Given the description of an element on the screen output the (x, y) to click on. 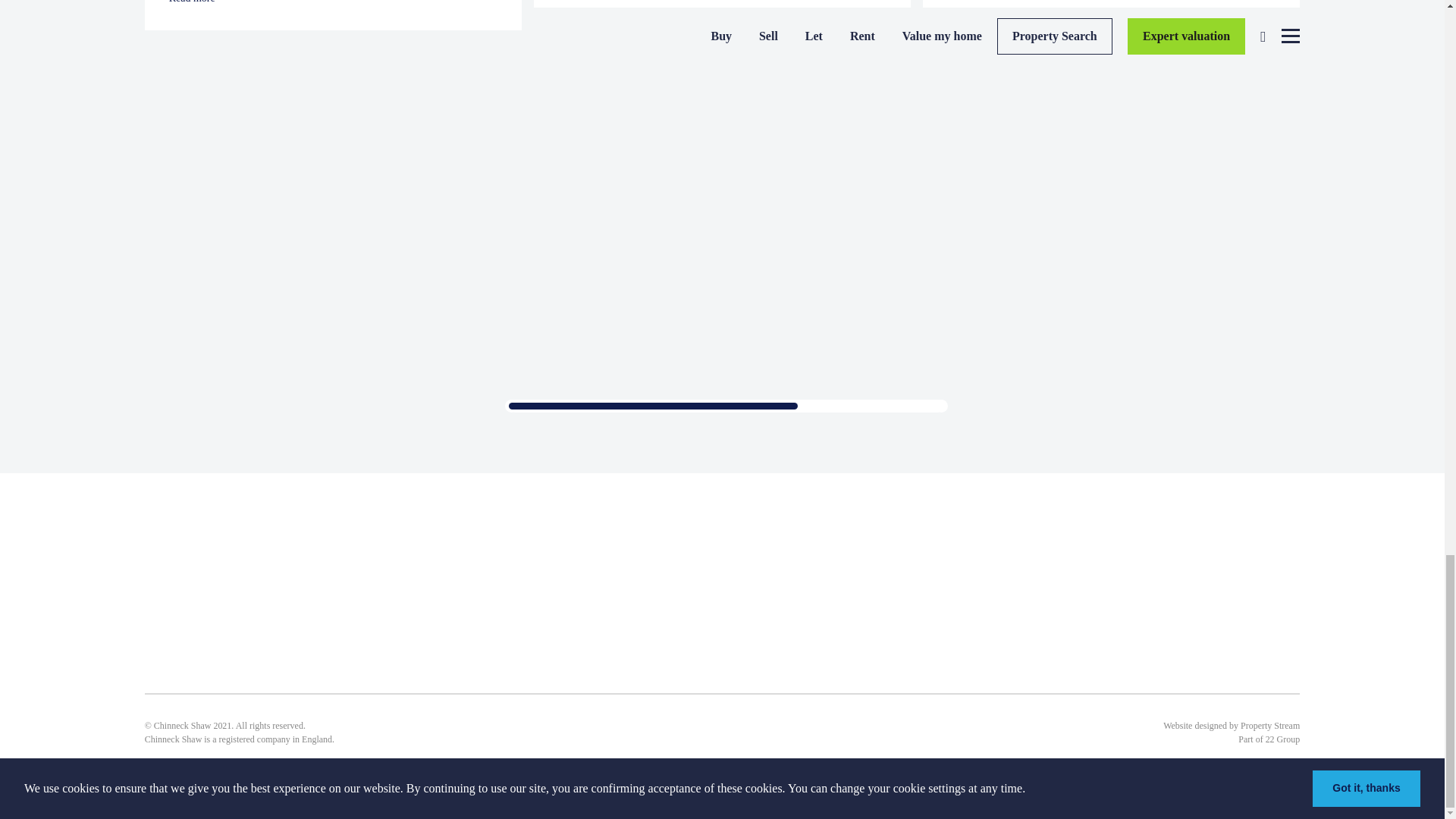
Read more (332, 2)
